Given the description of an element on the screen output the (x, y) to click on. 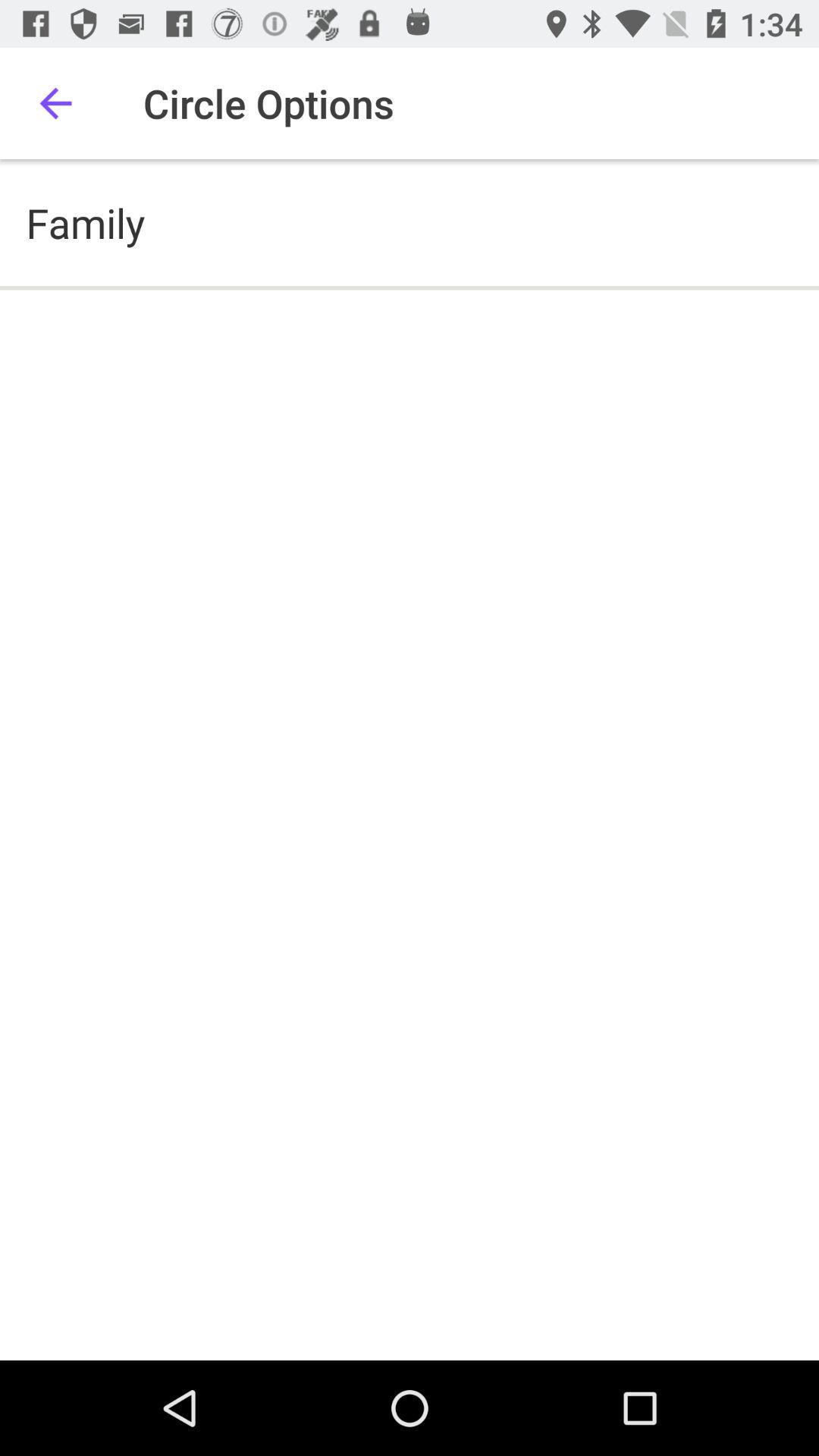
tap the family item (85, 222)
